Given the description of an element on the screen output the (x, y) to click on. 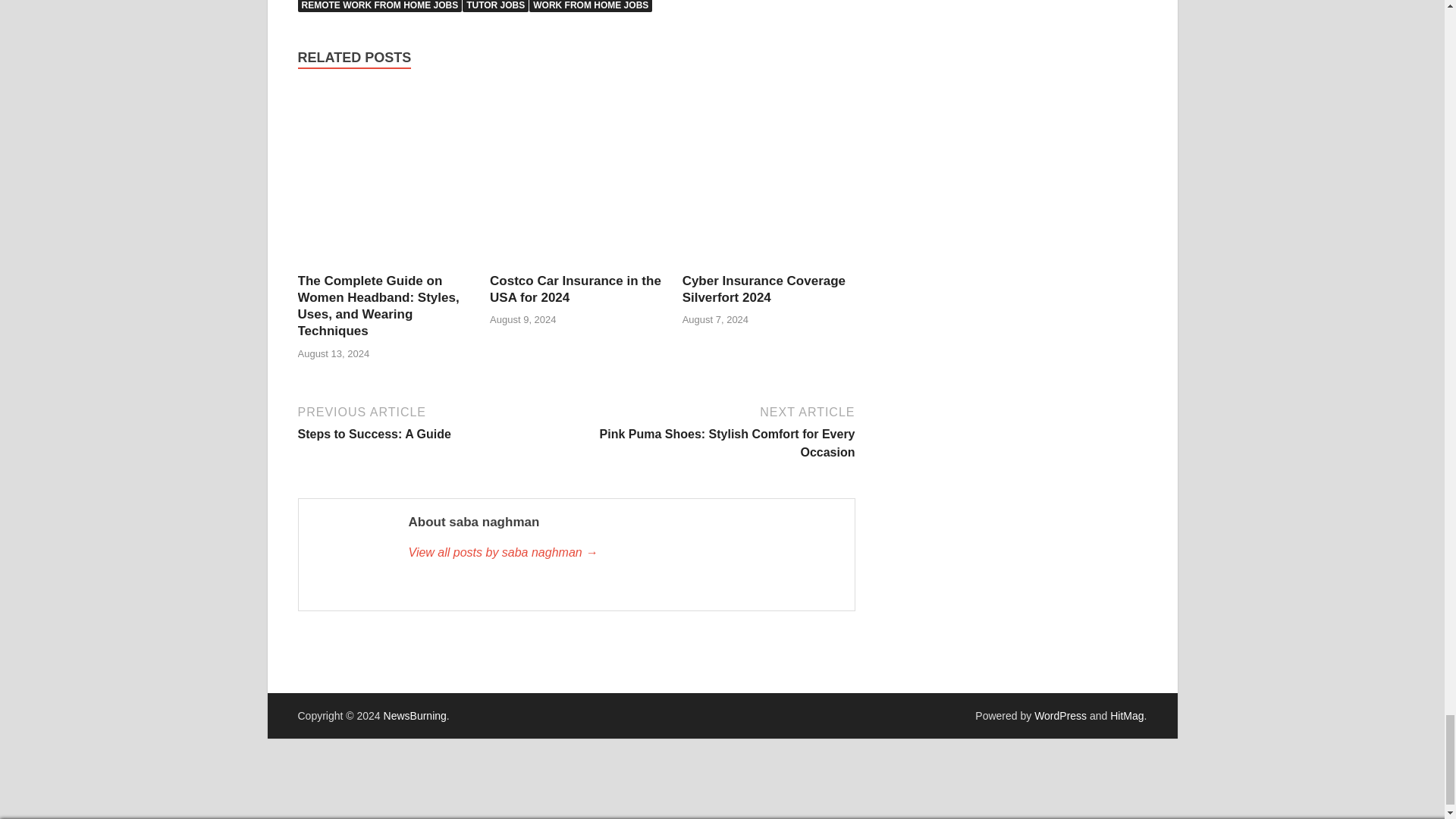
NewsBurning (415, 715)
saba naghman (622, 552)
WordPress (1059, 715)
Costco Car Insurance in the USA for 2024 (575, 288)
Costco Car Insurance in the USA for 2024 (575, 178)
Cyber Insurance Coverage Silverfort 2024 (769, 178)
HitMag WordPress Theme (1125, 715)
Cyber Insurance Coverage Silverfort 2024 (763, 288)
